Given the description of an element on the screen output the (x, y) to click on. 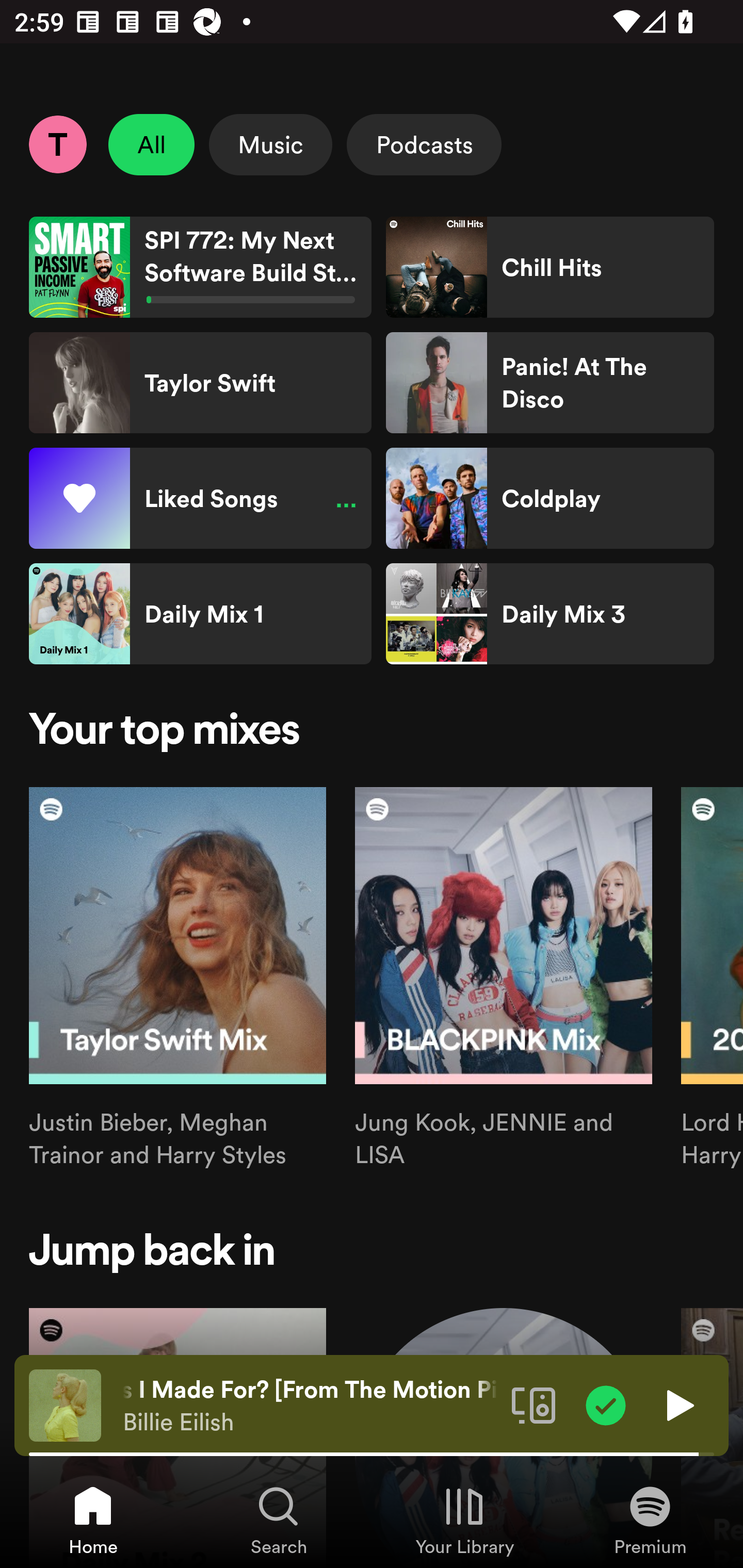
Profile (57, 144)
All Unselect All (151, 144)
Music Select Music (270, 144)
Podcasts Select Podcasts (423, 144)
Chill Hits Shortcut Chill Hits (549, 267)
Taylor Swift Shortcut Taylor Swift (199, 382)
Panic! At The Disco Shortcut Panic! At The Disco (549, 382)
Liked Songs Shortcut Liked Songs Paused (199, 498)
Coldplay Shortcut Coldplay (549, 498)
Daily Mix 1 Shortcut Daily Mix 1 (199, 613)
Daily Mix 3 Shortcut Daily Mix 3 (549, 613)
The cover art of the currently playing track (64, 1404)
Connect to a device. Opens the devices menu (533, 1404)
Item added (605, 1404)
Play (677, 1404)
